Given the description of an element on the screen output the (x, y) to click on. 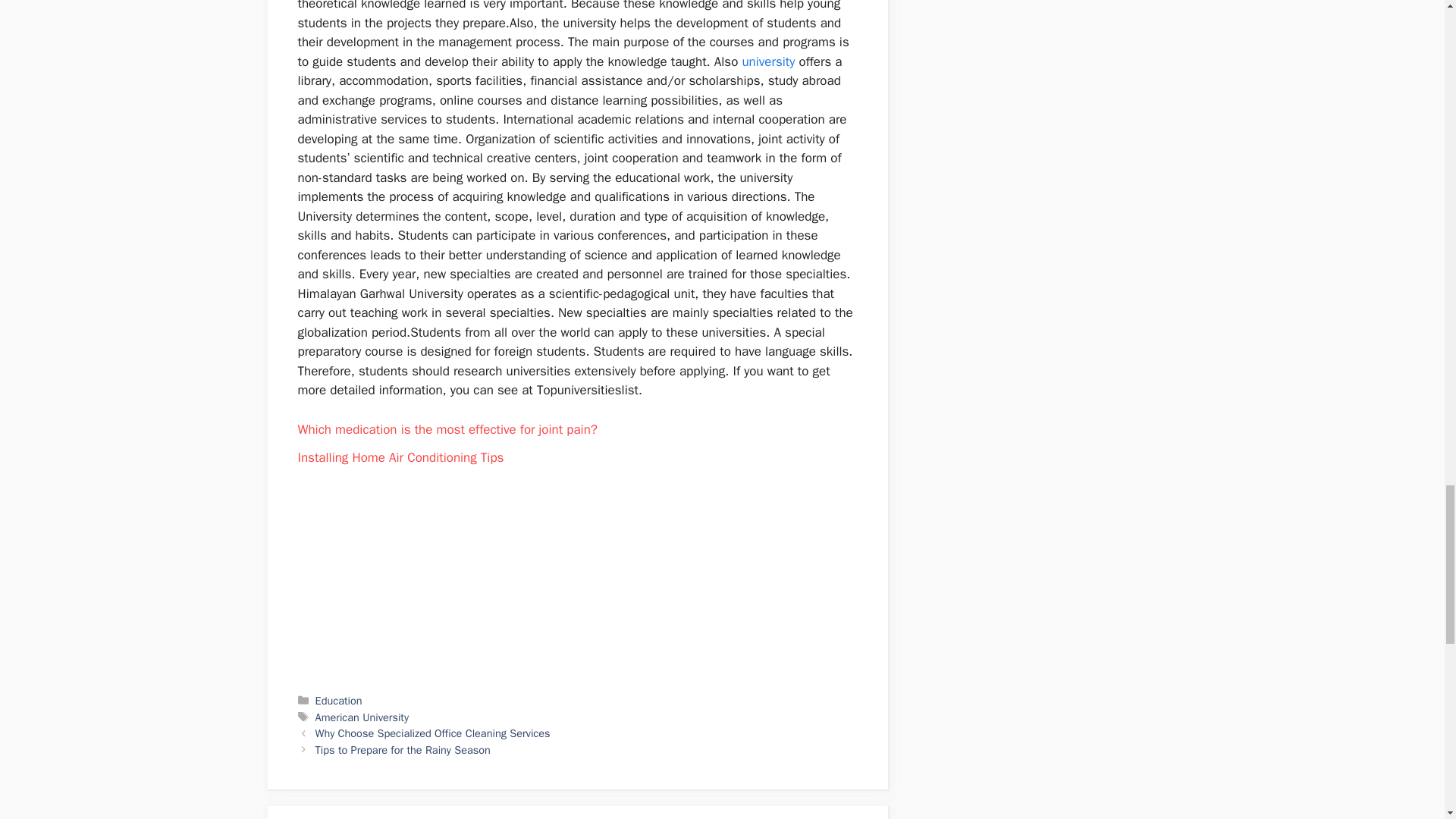
Tips to Prepare for the Rainy Season (402, 749)
Why Choose Specialized Office Cleaning Services (432, 733)
Installing Home Air Conditioning Tips (400, 457)
Advertisement (577, 570)
university (767, 61)
Which medication is the most effective for joint pain? (446, 429)
Education (338, 700)
American University (362, 716)
